Given the description of an element on the screen output the (x, y) to click on. 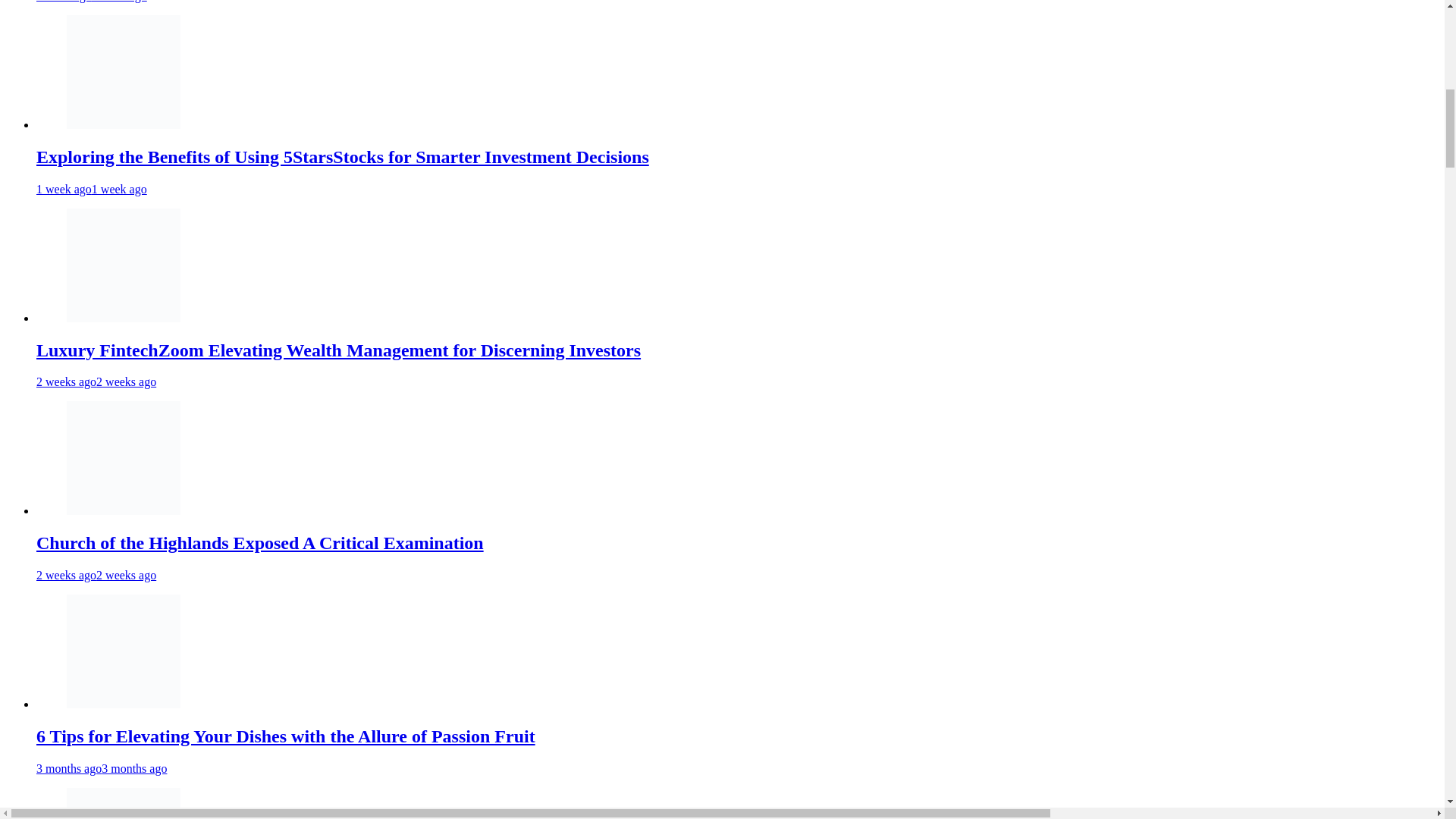
1 week ago1 week ago (91, 188)
Church of the Highlands Exposed A Critical Examination (123, 458)
Church of the Highlands Exposed A Critical Examination (123, 510)
2 weeks ago2 weeks ago (95, 381)
Church of the Highlands Exposed A Critical Examination (259, 542)
2 weeks ago2 weeks ago (95, 574)
Church of the Highlands Exposed A Critical Examination (259, 542)
